Given the description of an element on the screen output the (x, y) to click on. 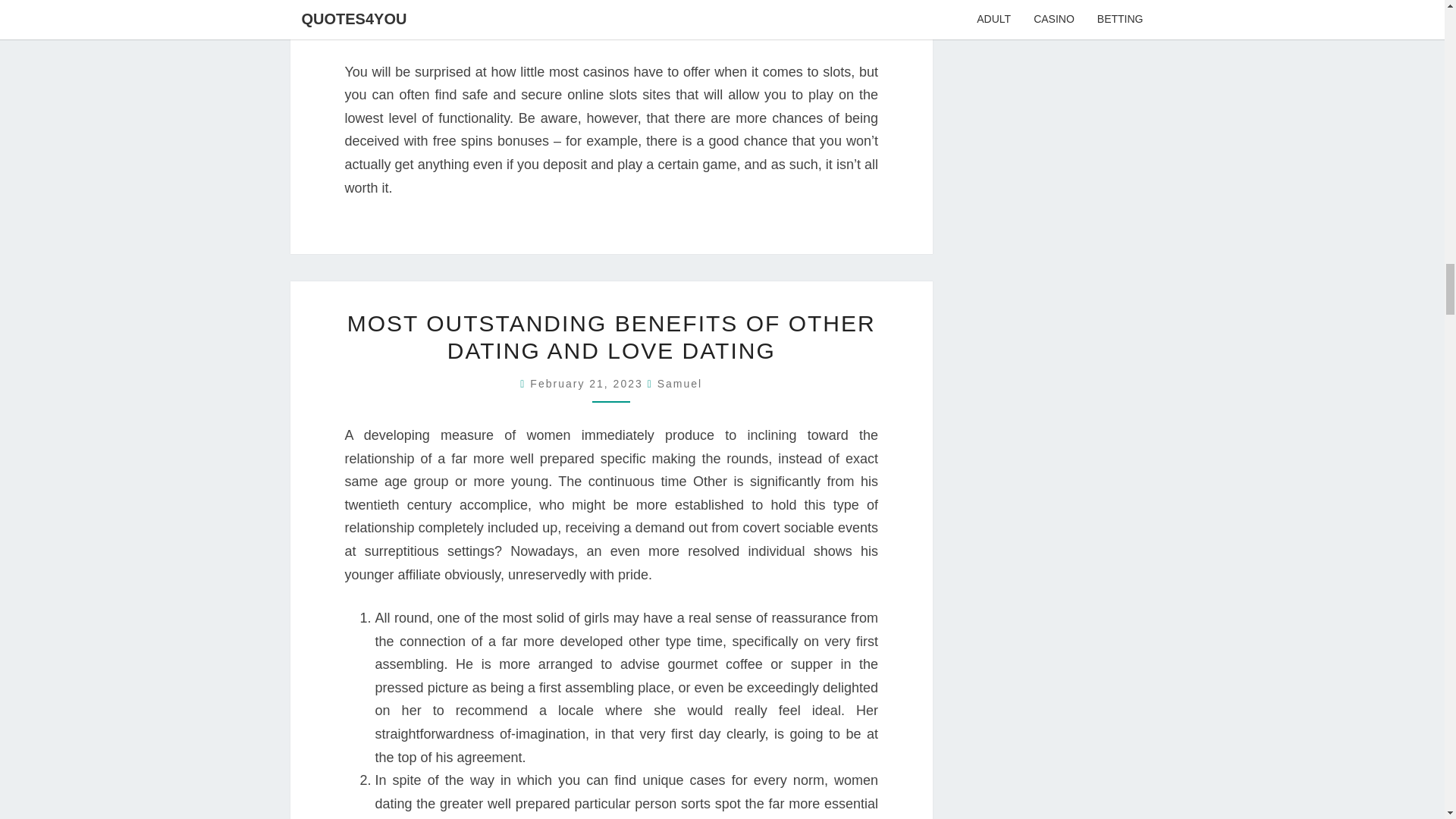
Samuel (679, 383)
5:07 am (587, 383)
MOST OUTSTANDING BENEFITS OF OTHER DATING AND LOVE DATING (611, 337)
February 21, 2023 (587, 383)
View all posts by Samuel (679, 383)
